Given the description of an element on the screen output the (x, y) to click on. 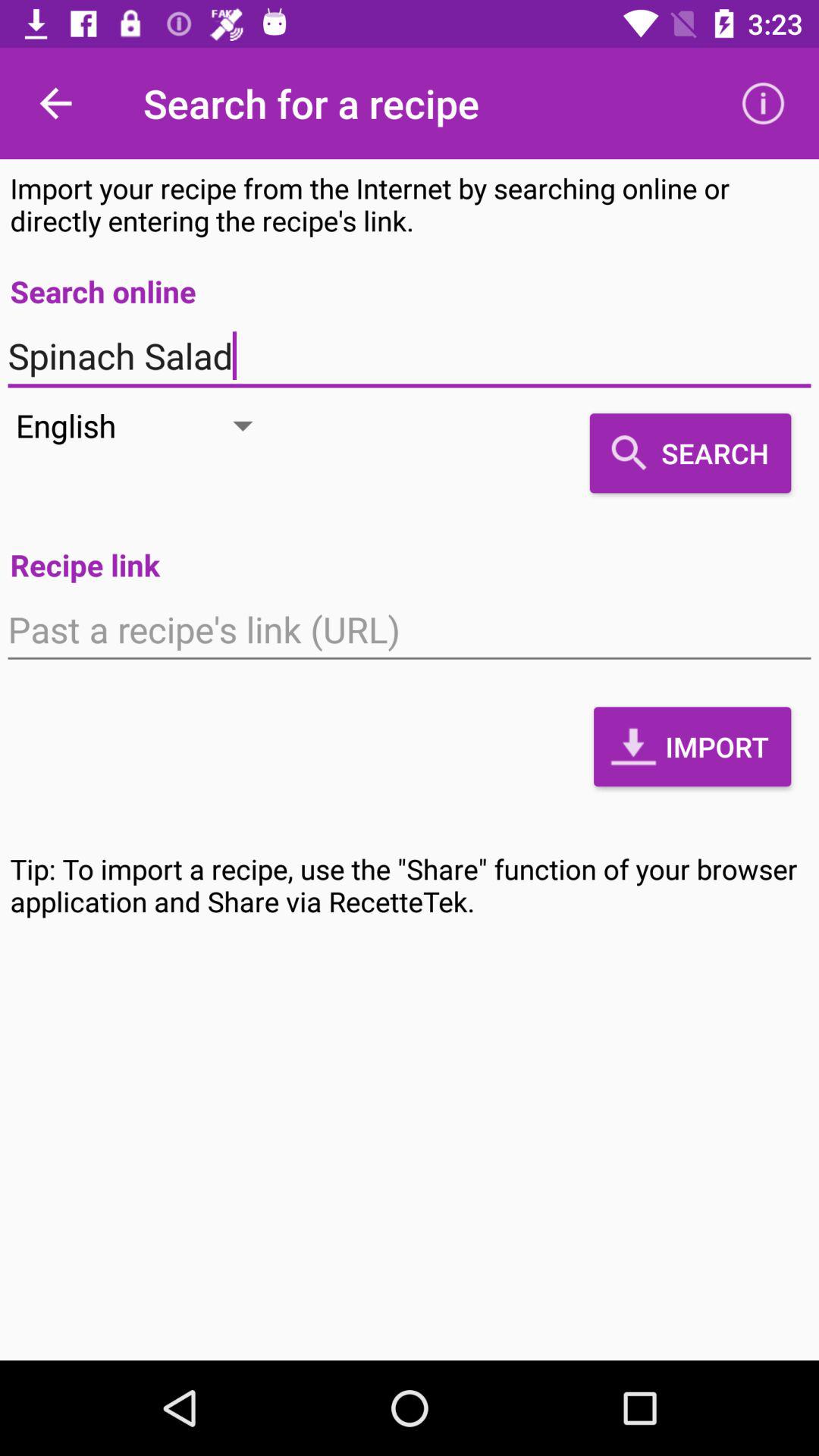
press icon to the right of search for a (763, 103)
